Given the description of an element on the screen output the (x, y) to click on. 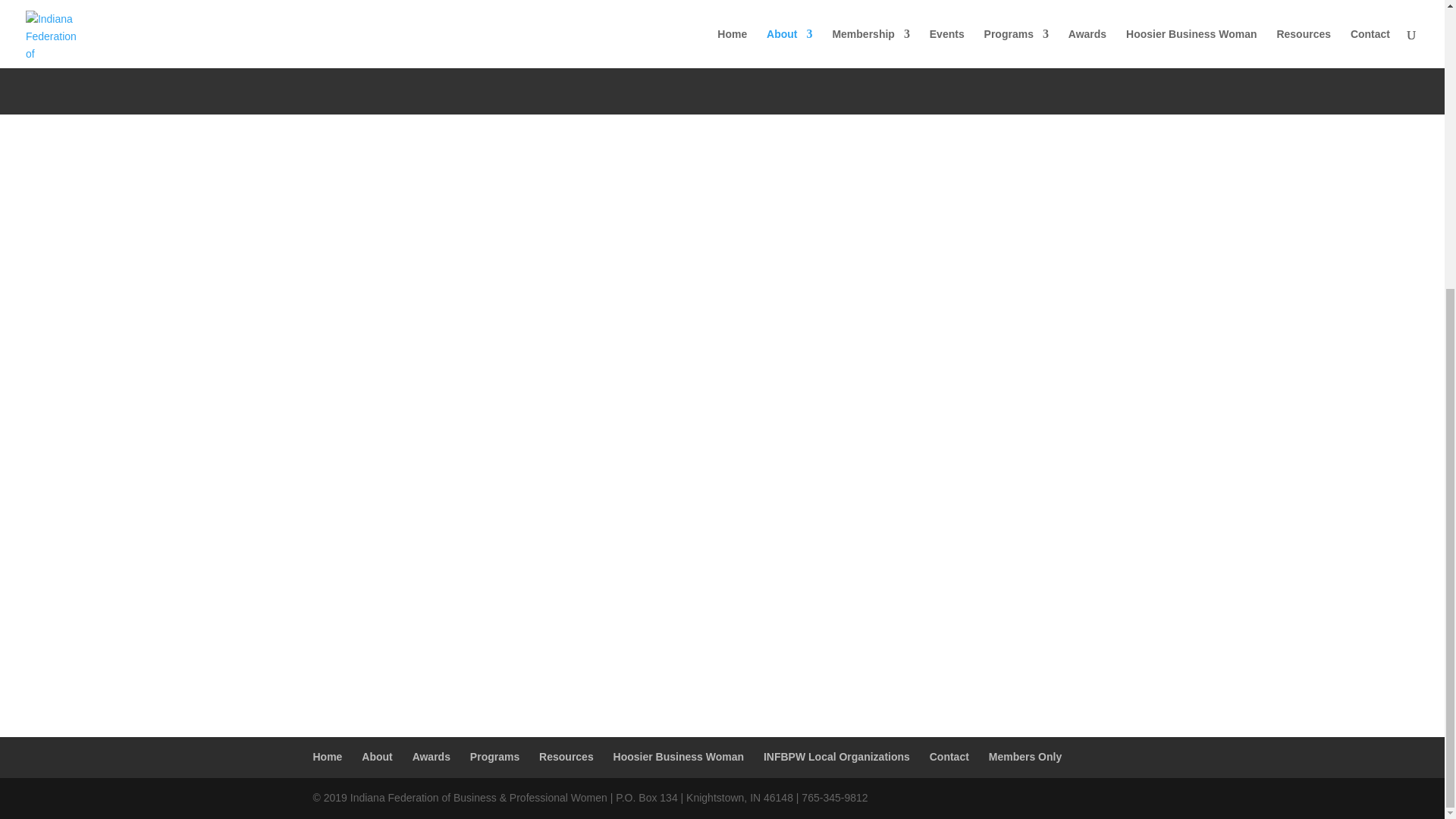
Awards (430, 756)
About (376, 756)
INFBPW Local Organizations (836, 756)
Contact (949, 756)
Home (327, 756)
Hoosier Business Woman (678, 756)
Programs (494, 756)
Members Only (1024, 756)
Resources (566, 756)
